Given the description of an element on the screen output the (x, y) to click on. 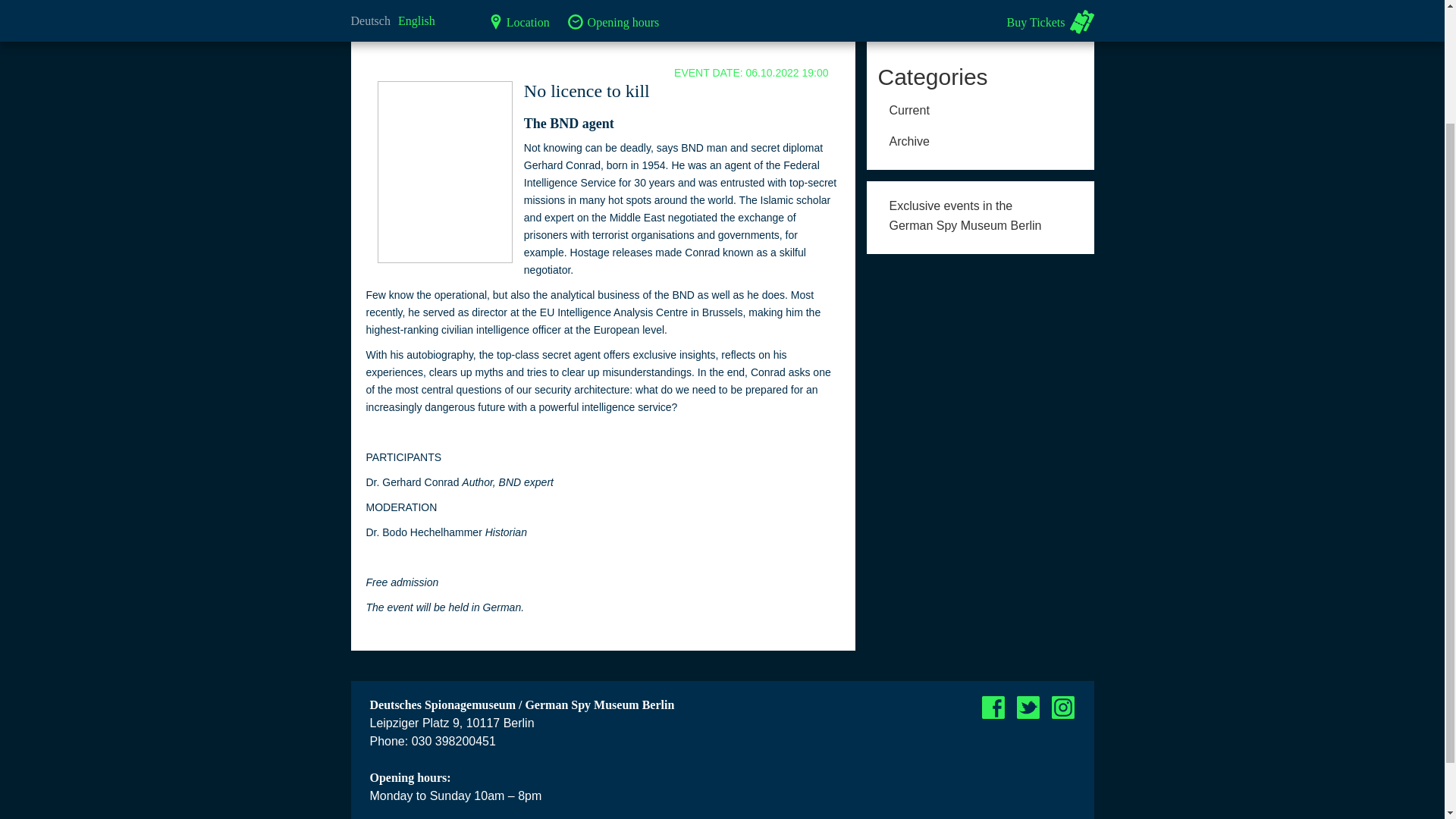
ESPIONAGE (852, 2)
Deutsches Spionagemuseum (426, 2)
Archive (980, 139)
SHOP (1048, 2)
MUSEUM (980, 213)
Current (558, 2)
BLOG (980, 108)
No licence to kill (949, 2)
